Given the description of an element on the screen output the (x, y) to click on. 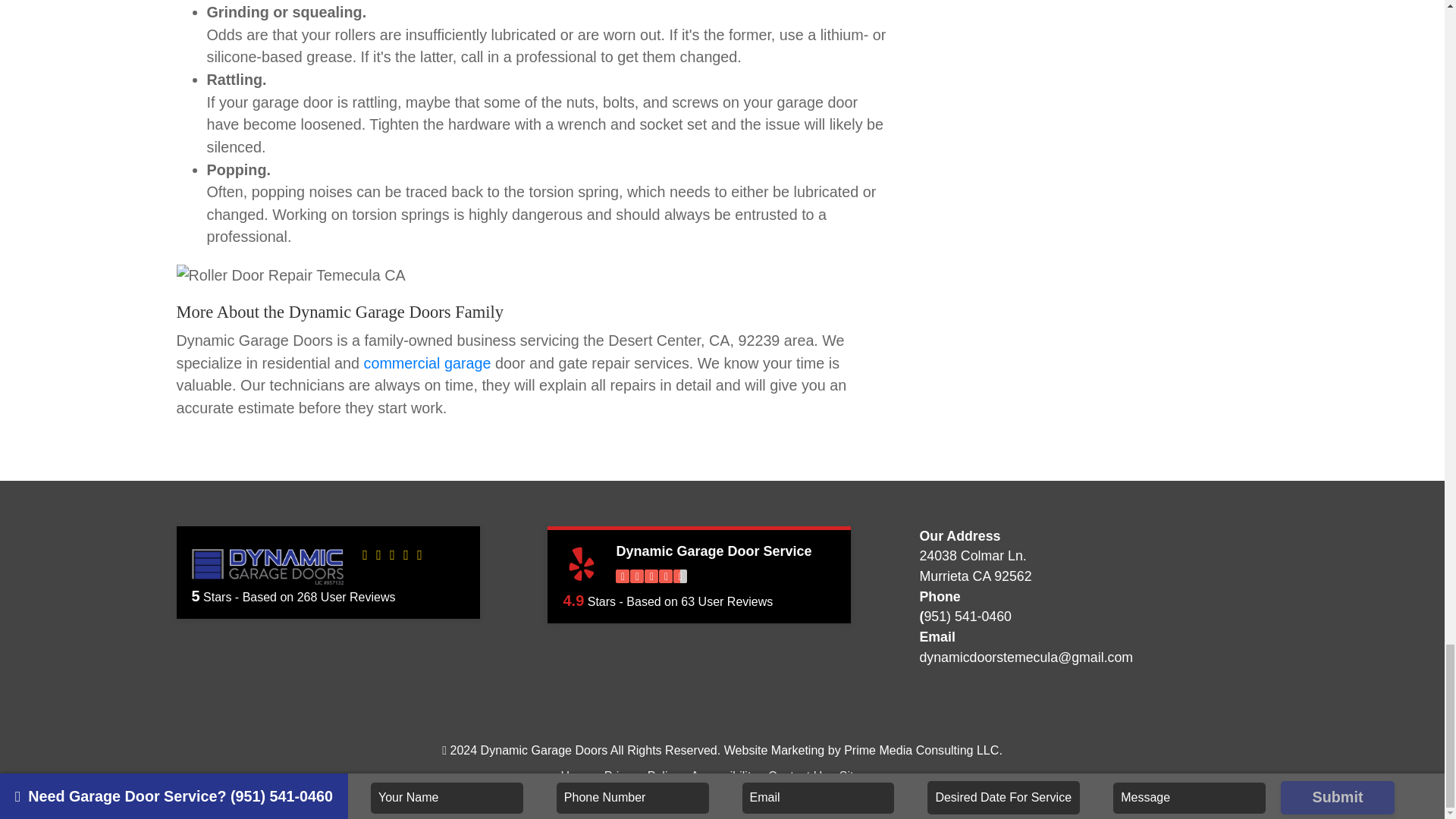
Prime Media Consulting LLC (921, 749)
268 User Reviews (346, 596)
commercial garage (428, 362)
63 User Reviews (727, 601)
Sitemap (861, 775)
Accessibility (723, 775)
Privacy Policy (641, 775)
Contact Us (798, 775)
Home (576, 775)
